Given the description of an element on the screen output the (x, y) to click on. 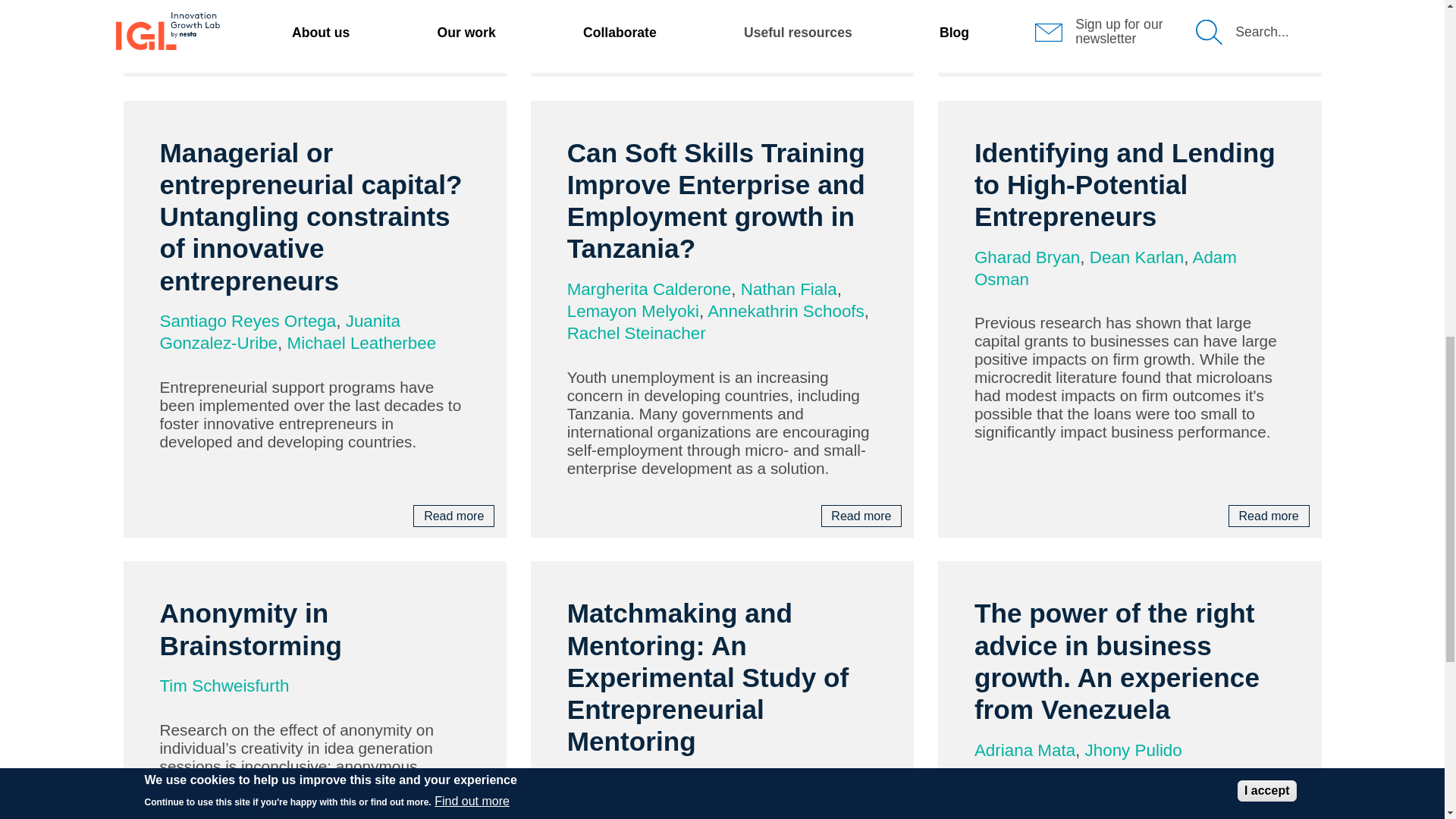
Read more (454, 55)
